Given the description of an element on the screen output the (x, y) to click on. 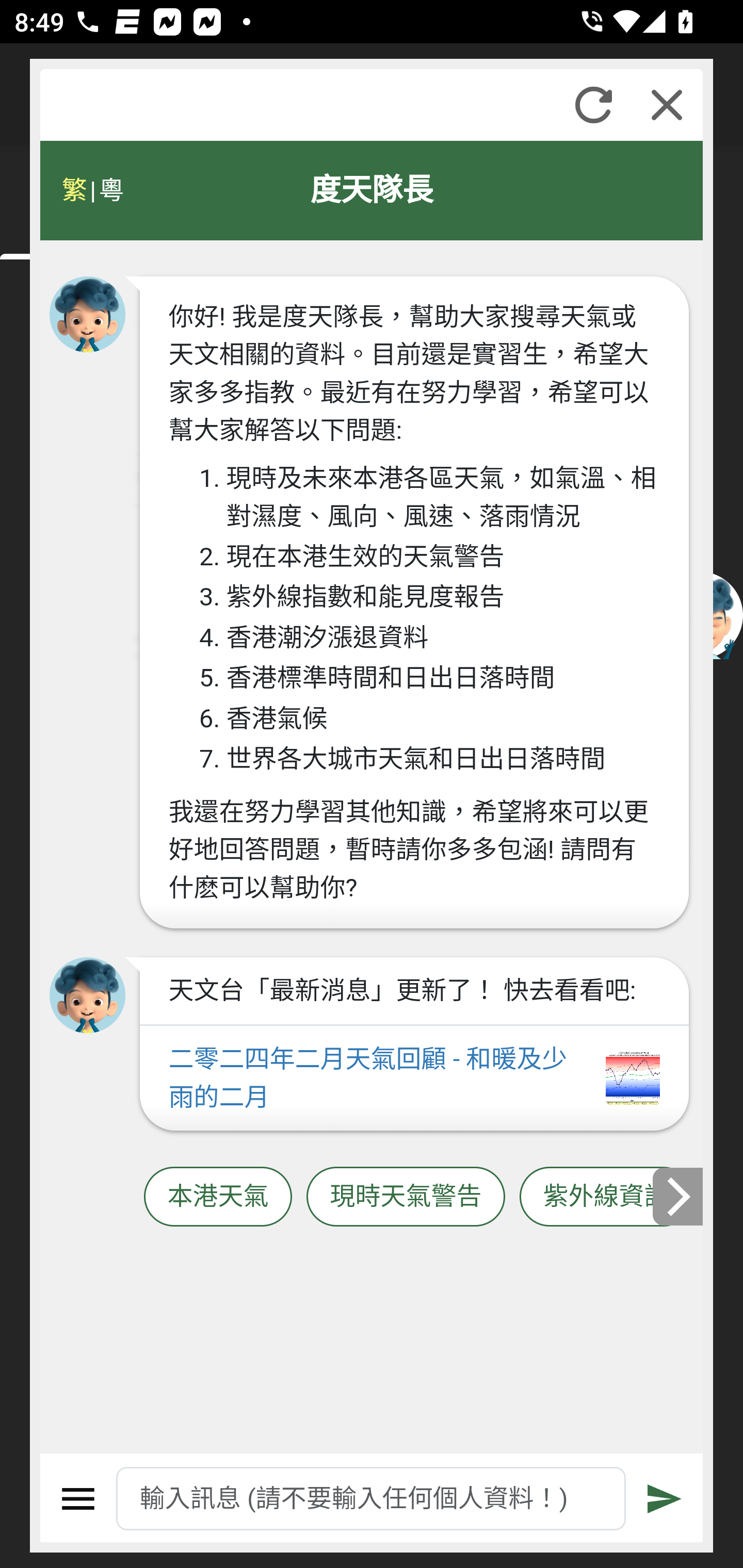
重新整理 (593, 104)
關閉 (666, 104)
繁 (73, 190)
粵 (110, 190)
二零二四年二月天氣回顧 - 和暖及少雨的二月 (413, 1078)
本港天氣 (217, 1196)
現時天氣警告 (405, 1196)
紫外線資訊 (605, 1196)
下一張 (678, 1196)
選單 (78, 1498)
遞交 (665, 1498)
